Given the description of an element on the screen output the (x, y) to click on. 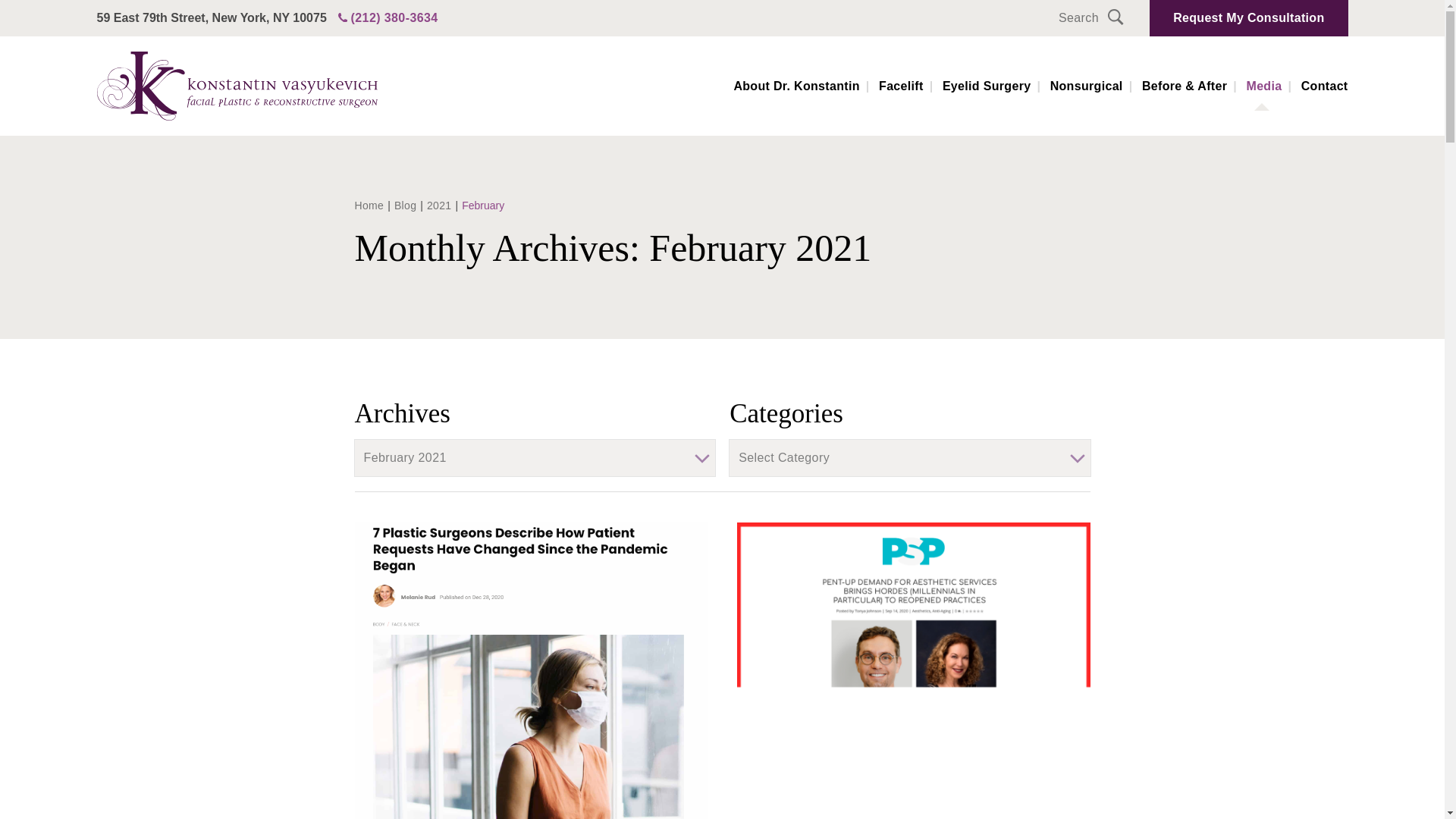
About Dr. Konstantin (804, 85)
Go to Blog. (405, 205)
Nonsurgical (1093, 85)
Request My Consultation (1249, 18)
Eyelid Surgery (994, 85)
Go to 2021. (438, 205)
Facelift (909, 85)
